Given the description of an element on the screen output the (x, y) to click on. 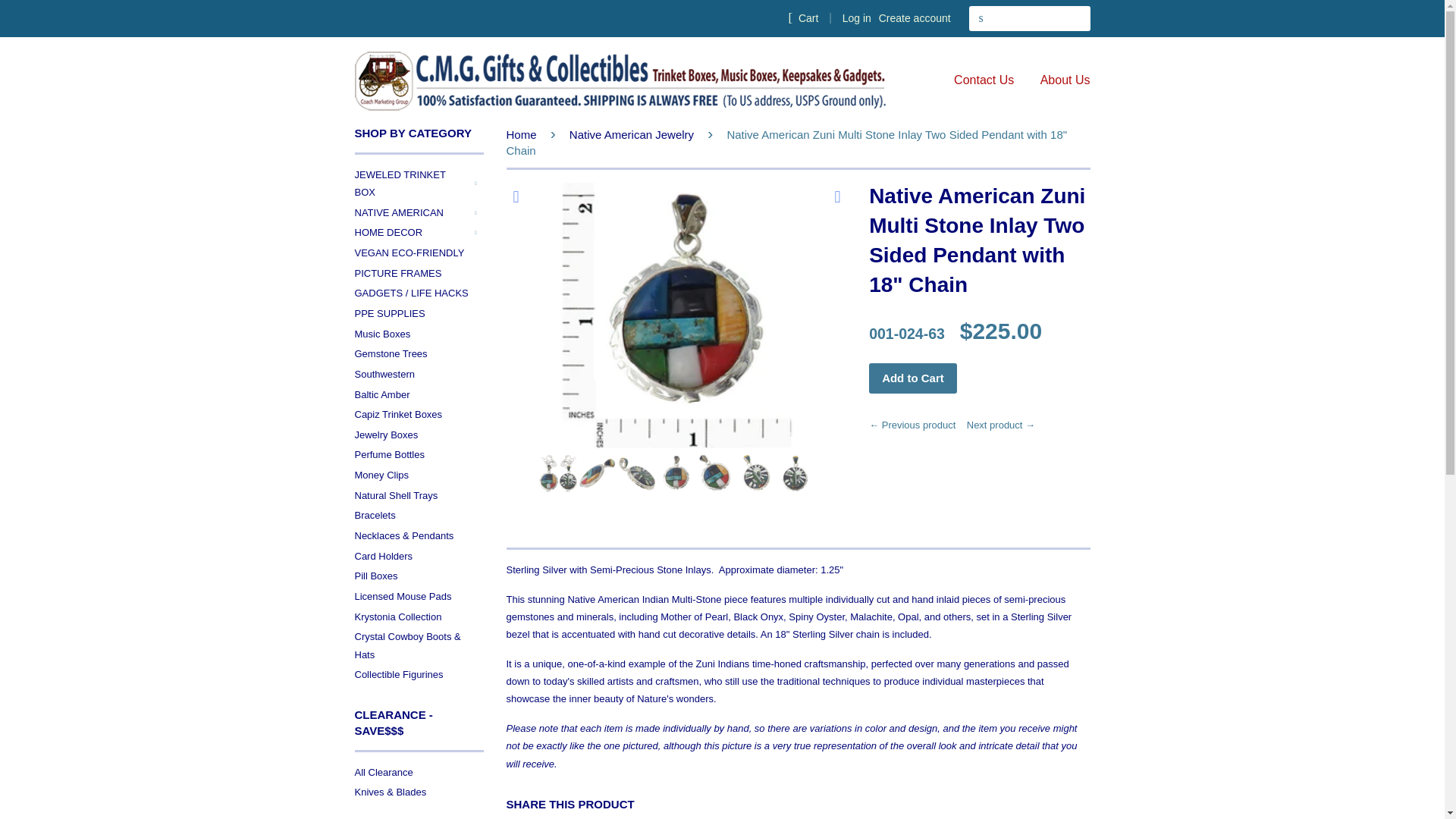
Log in (856, 18)
Search (980, 18)
Create account (914, 18)
Back to the frontpage (523, 133)
Cart (802, 17)
